Given the description of an element on the screen output the (x, y) to click on. 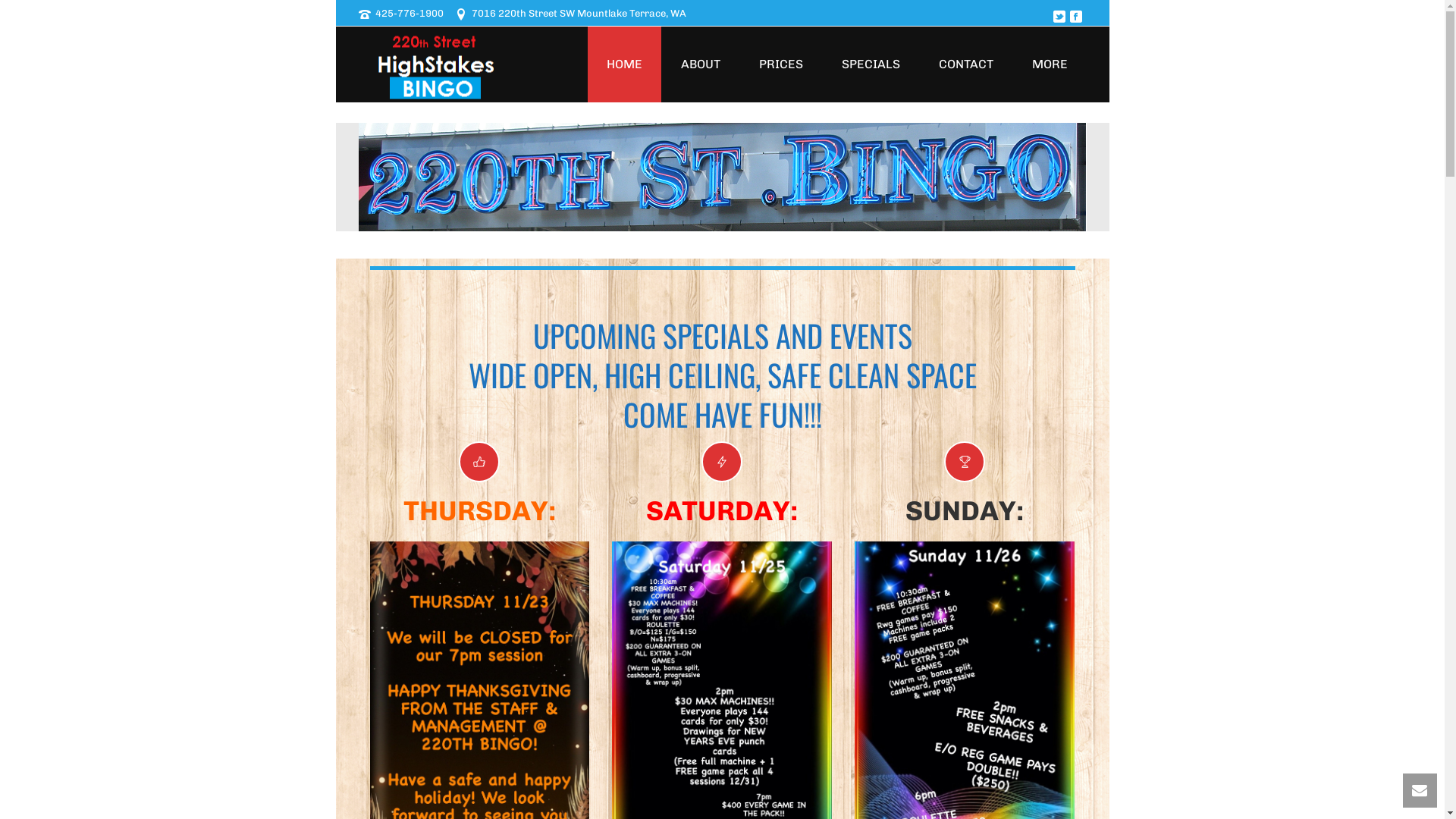
SPECIALS Element type: text (870, 64)
CONTACT Element type: text (965, 64)
HOME Element type: text (623, 64)
PRICES Element type: text (781, 64)
MORE Element type: text (1049, 64)
ABOUT Element type: text (699, 64)
twitter Element type: hover (1058, 17)
facebook Element type: hover (1075, 17)
